Given the description of an element on the screen output the (x, y) to click on. 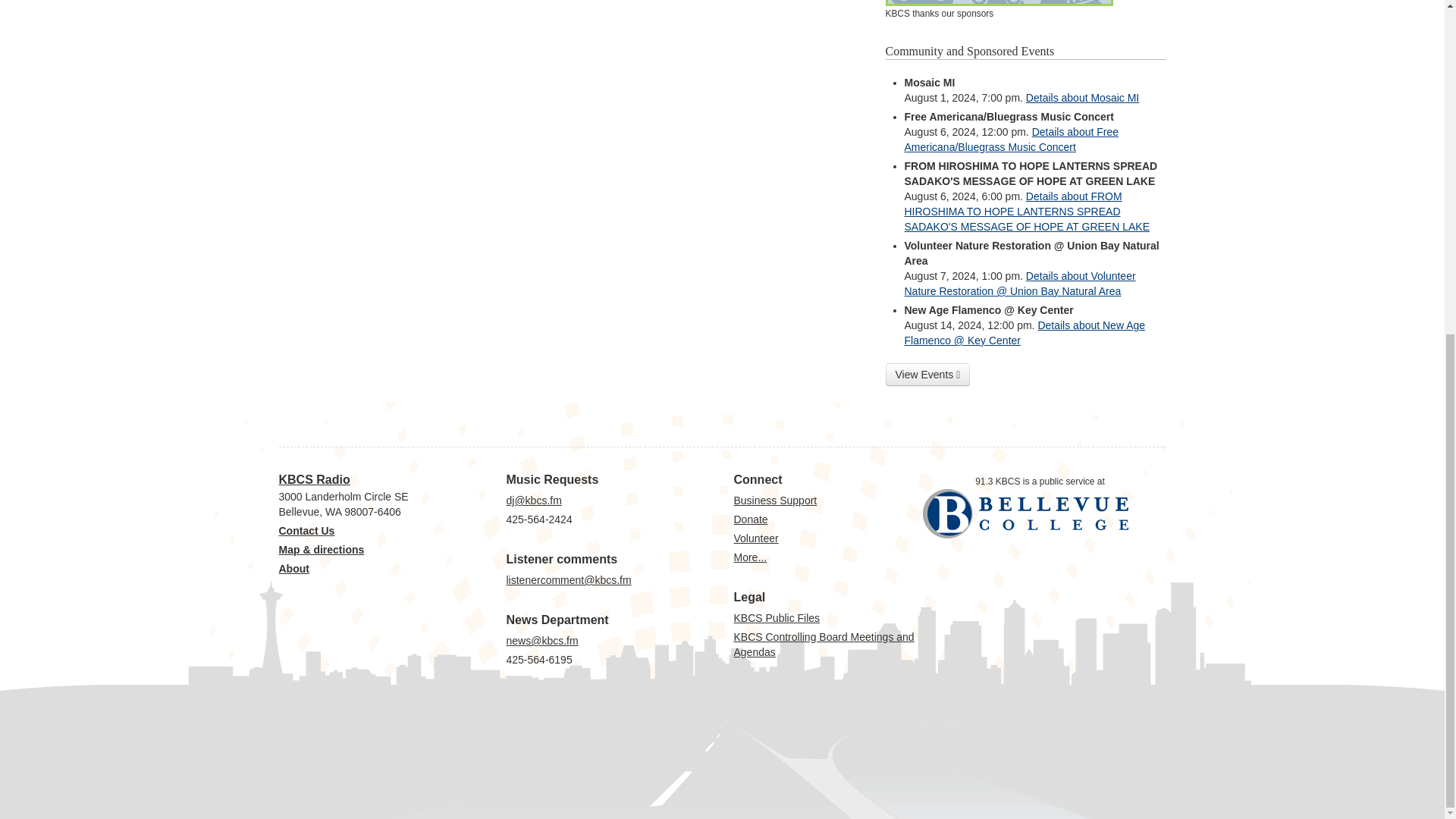
Details about Mosaic MI (1082, 97)
View Events (928, 374)
